Given the description of an element on the screen output the (x, y) to click on. 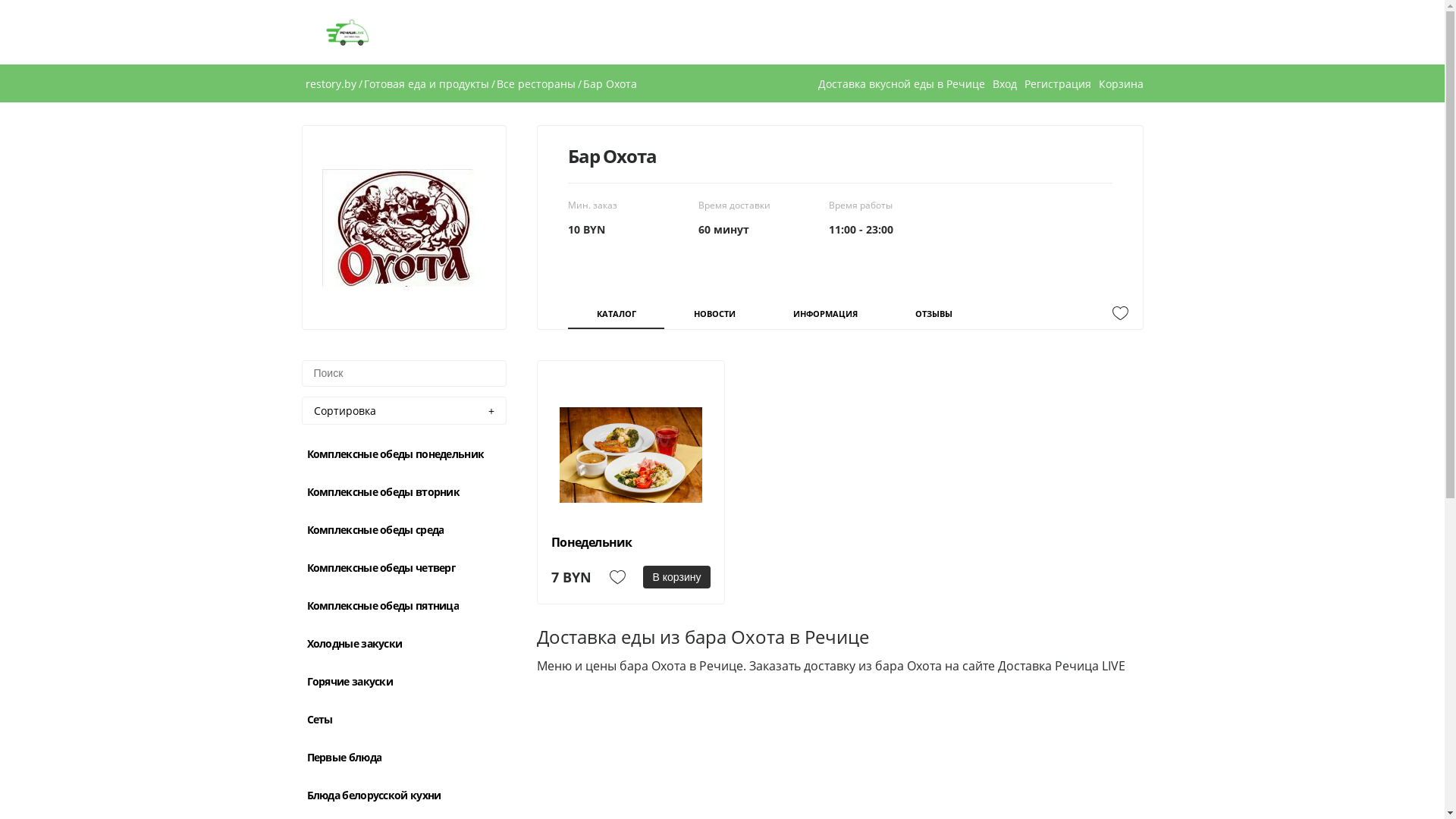
restory.by Element type: text (329, 83)
